Given the description of an element on the screen output the (x, y) to click on. 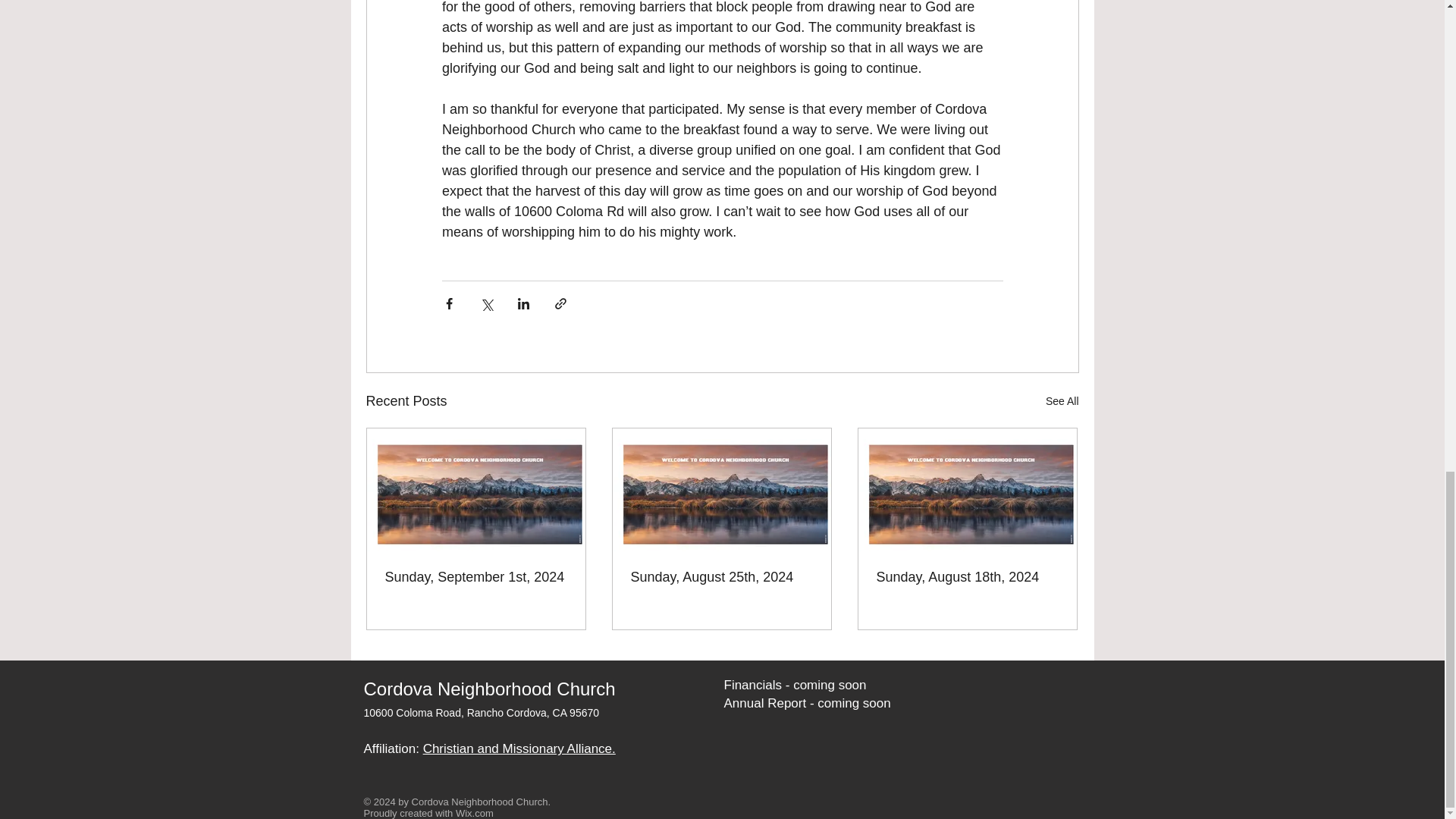
See All (1061, 401)
Christian and Missionary Alliance. (519, 748)
Sunday, September 1st, 2024 (476, 577)
Sunday, August 25th, 2024 (721, 577)
Sunday, August 18th, 2024 (967, 577)
